Given the description of an element on the screen output the (x, y) to click on. 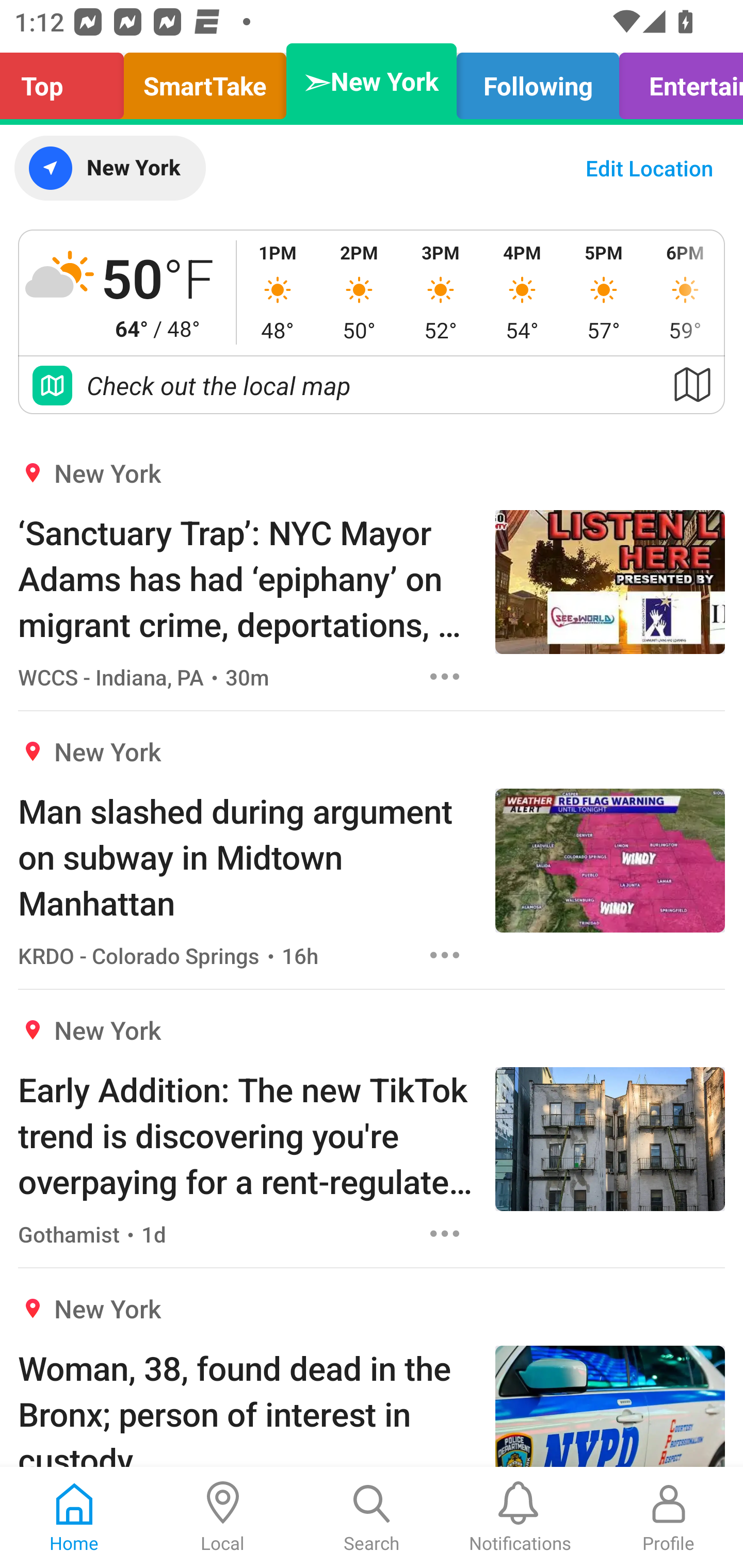
Top (67, 81)
SmartTake (204, 81)
➣New York (371, 81)
Following (537, 81)
New York (109, 168)
Edit Location (648, 168)
1PM 48° (277, 291)
2PM 50° (358, 291)
3PM 52° (440, 291)
4PM 54° (522, 291)
5PM 57° (603, 291)
6PM 59° (684, 291)
Check out the local map (371, 384)
Options (444, 676)
Options (444, 954)
Options (444, 1233)
Local (222, 1517)
Search (371, 1517)
Notifications (519, 1517)
Profile (668, 1517)
